Given the description of an element on the screen output the (x, y) to click on. 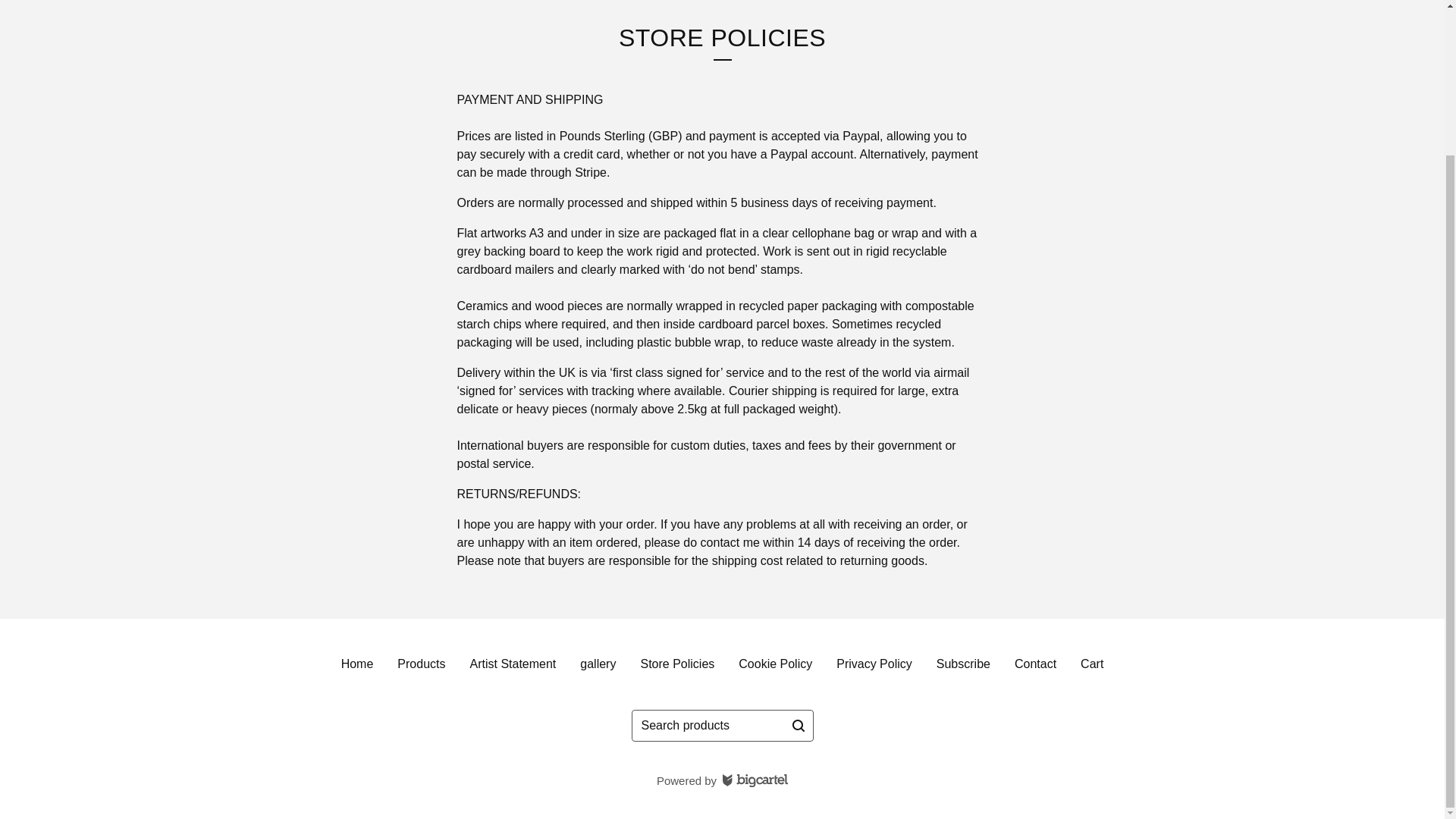
Cart (1091, 664)
Powered by (721, 780)
Products (421, 664)
Artist Statement (512, 664)
gallery (597, 664)
View Privacy Policy (874, 664)
Contact (1035, 664)
View Subscribe (963, 664)
Store Policies (676, 664)
Privacy Policy (874, 664)
View Store Policies (676, 664)
Subscribe (963, 664)
Powered by Big Cartel (721, 780)
View Cookie Policy (775, 664)
Home (357, 664)
